Given the description of an element on the screen output the (x, y) to click on. 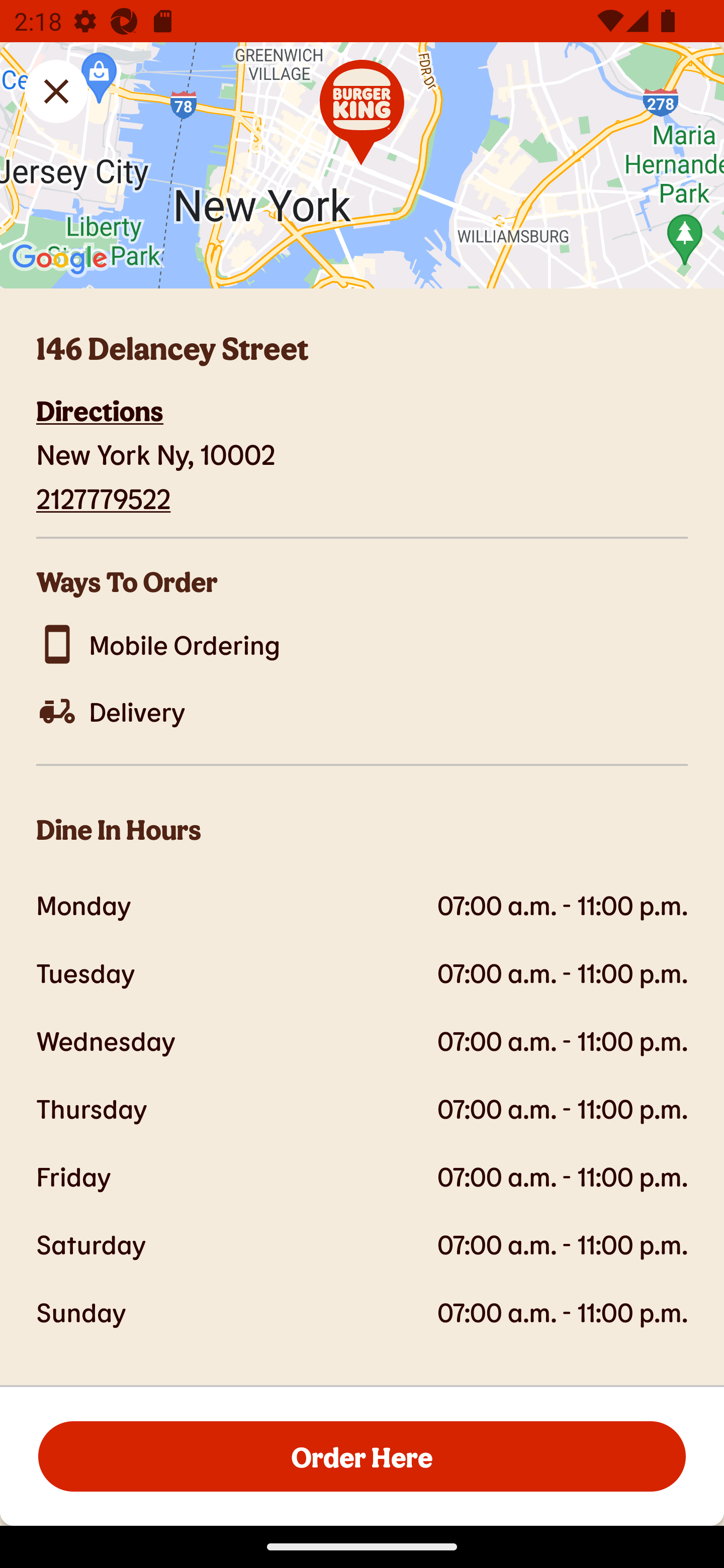
Google Map (362, 165)
Close  (56, 91)
Order Here (361, 1455)
